Given the description of an element on the screen output the (x, y) to click on. 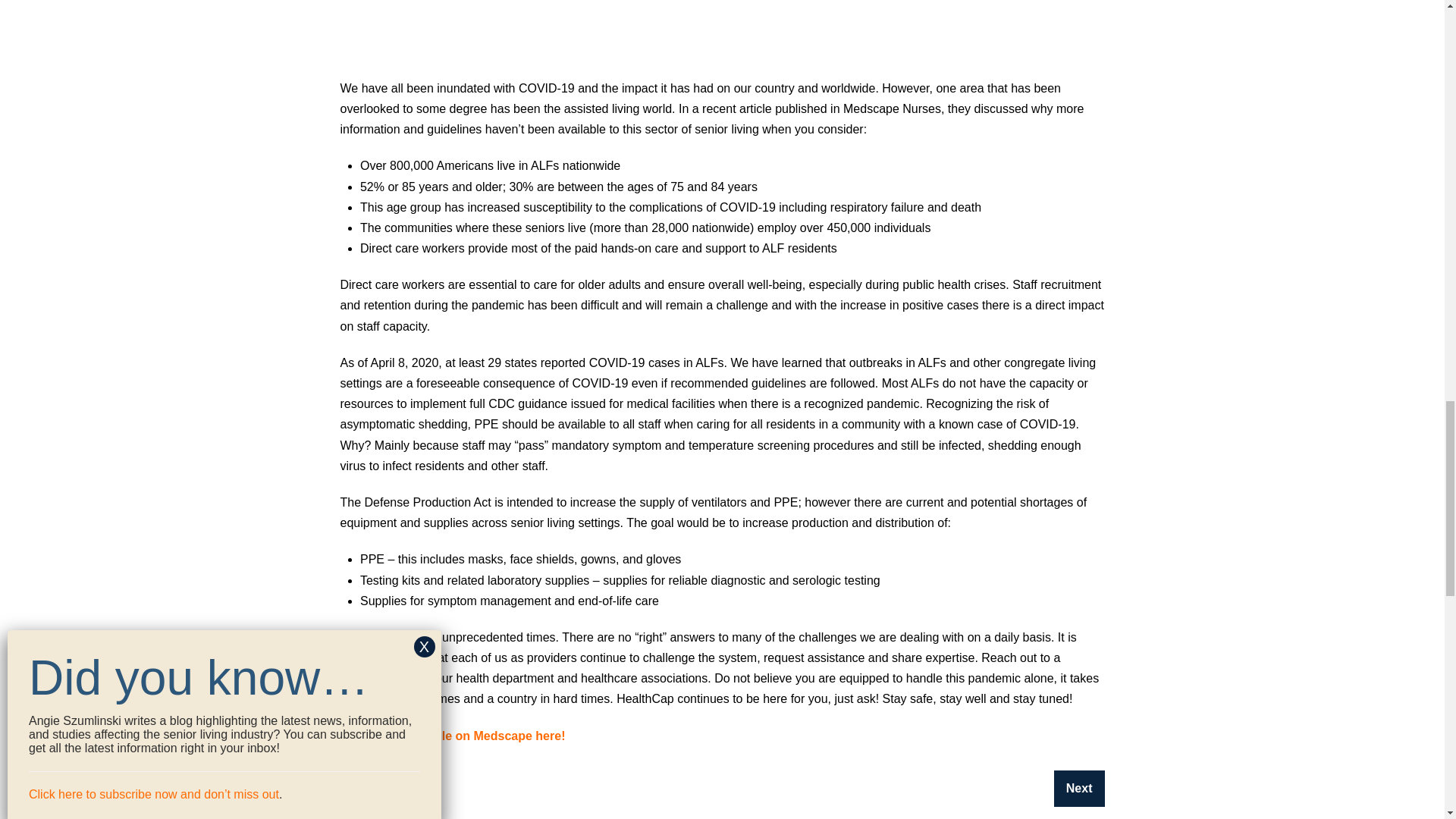
Next (1079, 788)
Previous (376, 788)
Read the full article on Medscape here! (451, 735)
